Given the description of an element on the screen output the (x, y) to click on. 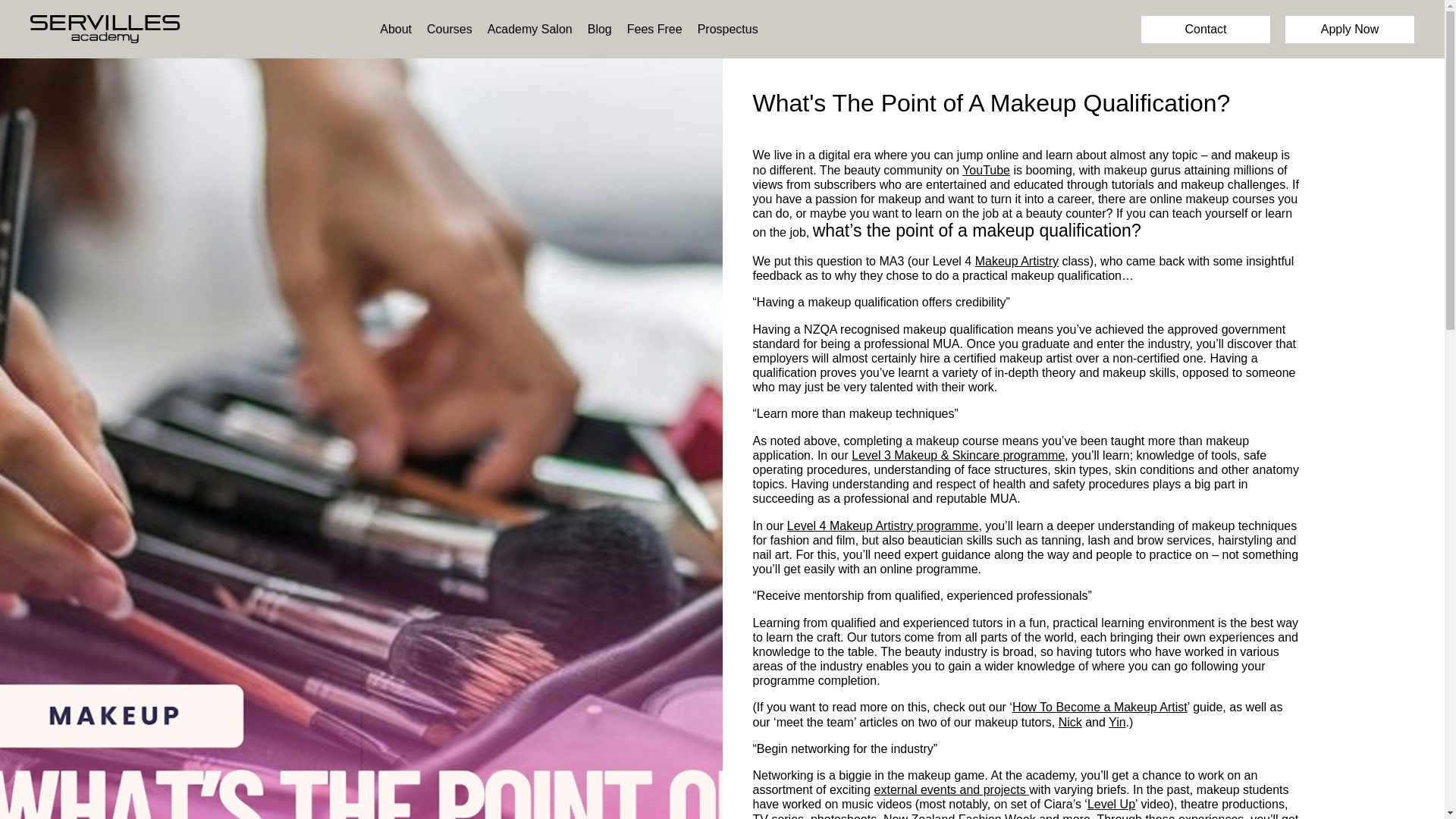
Fees Free (654, 28)
Blog (599, 28)
About (396, 29)
Academy Salon (529, 28)
Prospectus (727, 28)
